Given the description of an element on the screen output the (x, y) to click on. 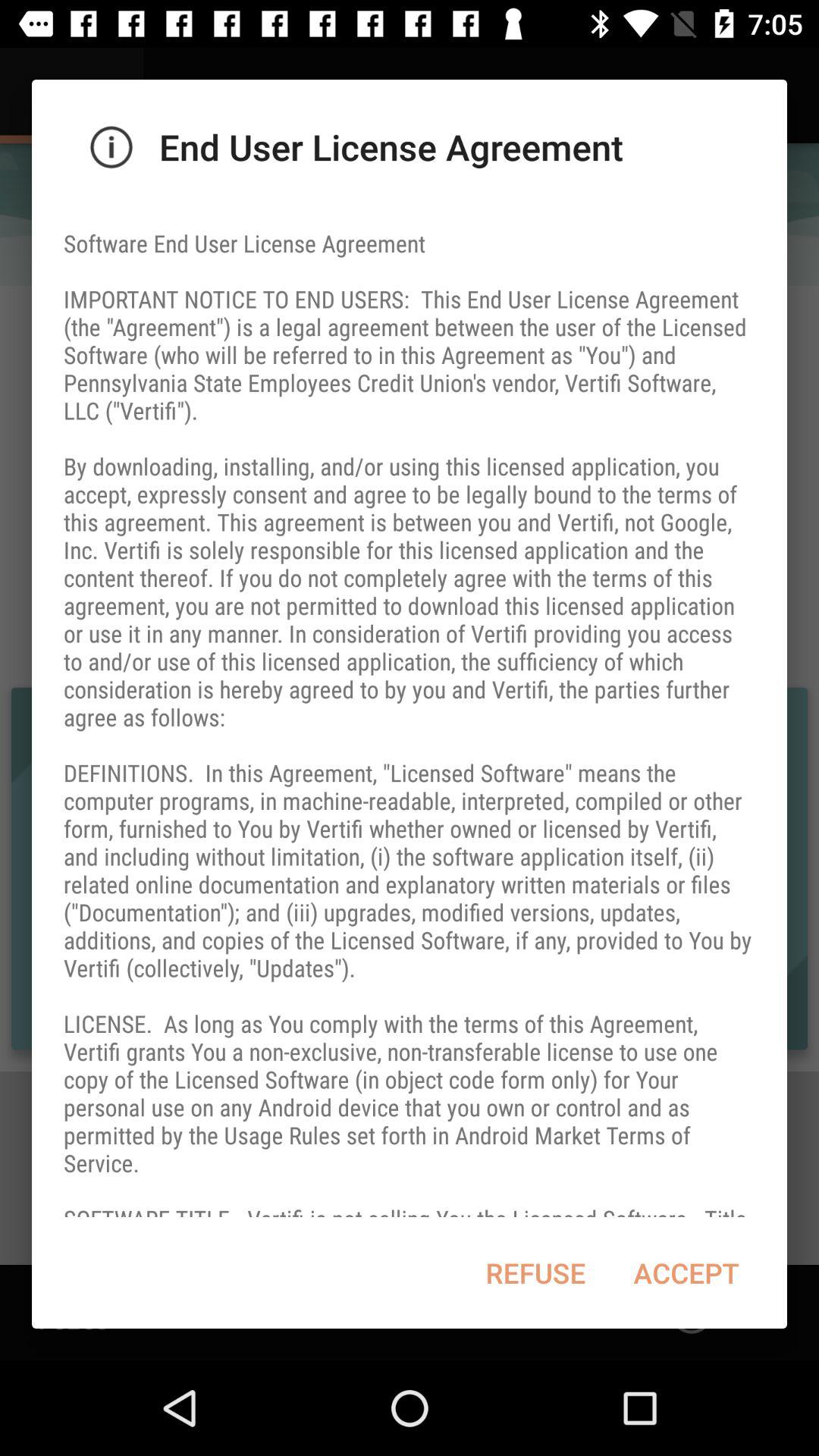
turn off the refuse item (535, 1272)
